Given the description of an element on the screen output the (x, y) to click on. 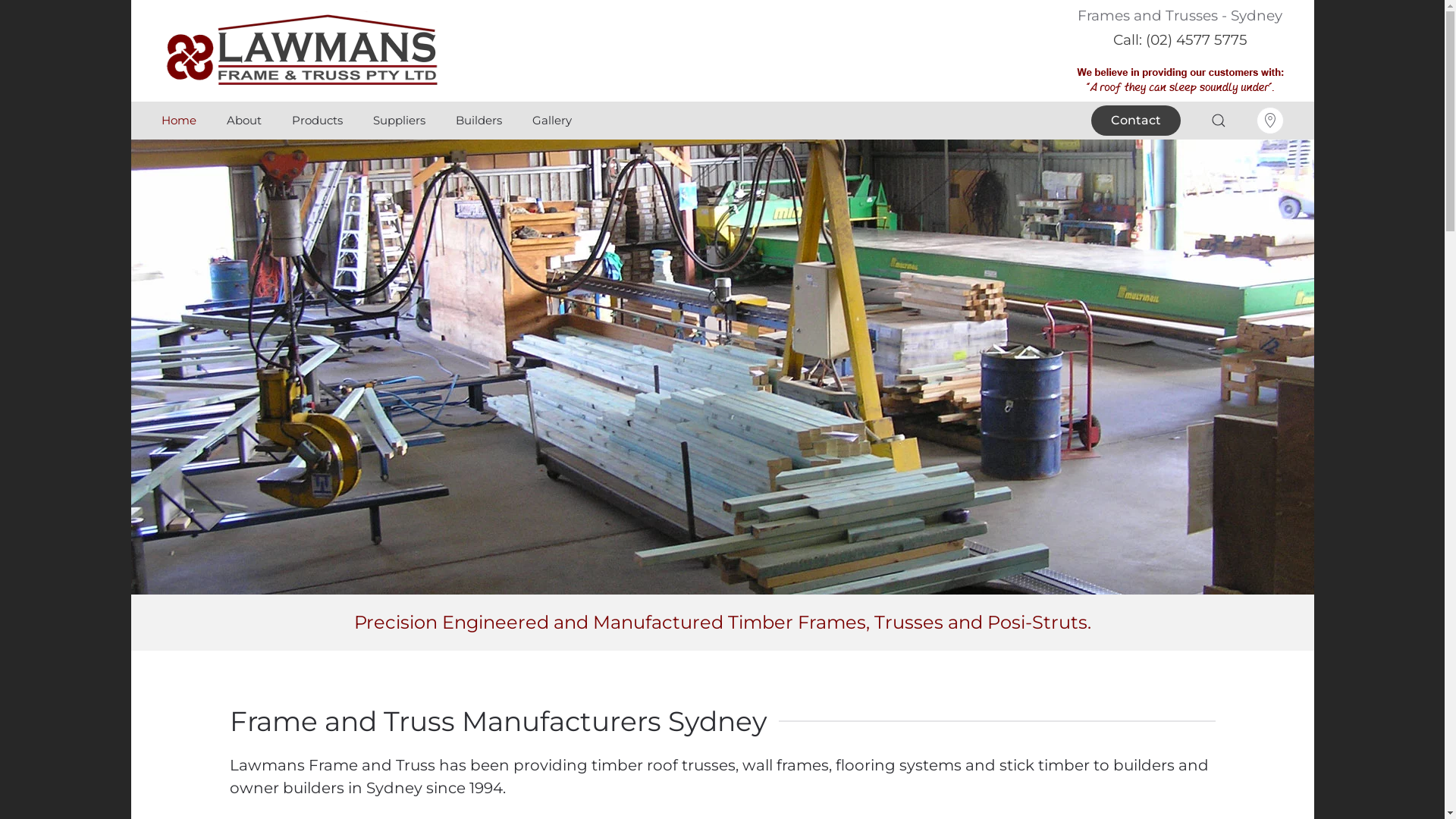
Contact Element type: text (1134, 120)
Call: (02) 4577 5775 Element type: text (1180, 39)
Home Element type: text (177, 120)
About Element type: text (242, 120)
Builders Element type: text (478, 120)
Gallery Element type: text (551, 120)
Suppliers Element type: text (399, 120)
Products Element type: text (316, 120)
